Given the description of an element on the screen output the (x, y) to click on. 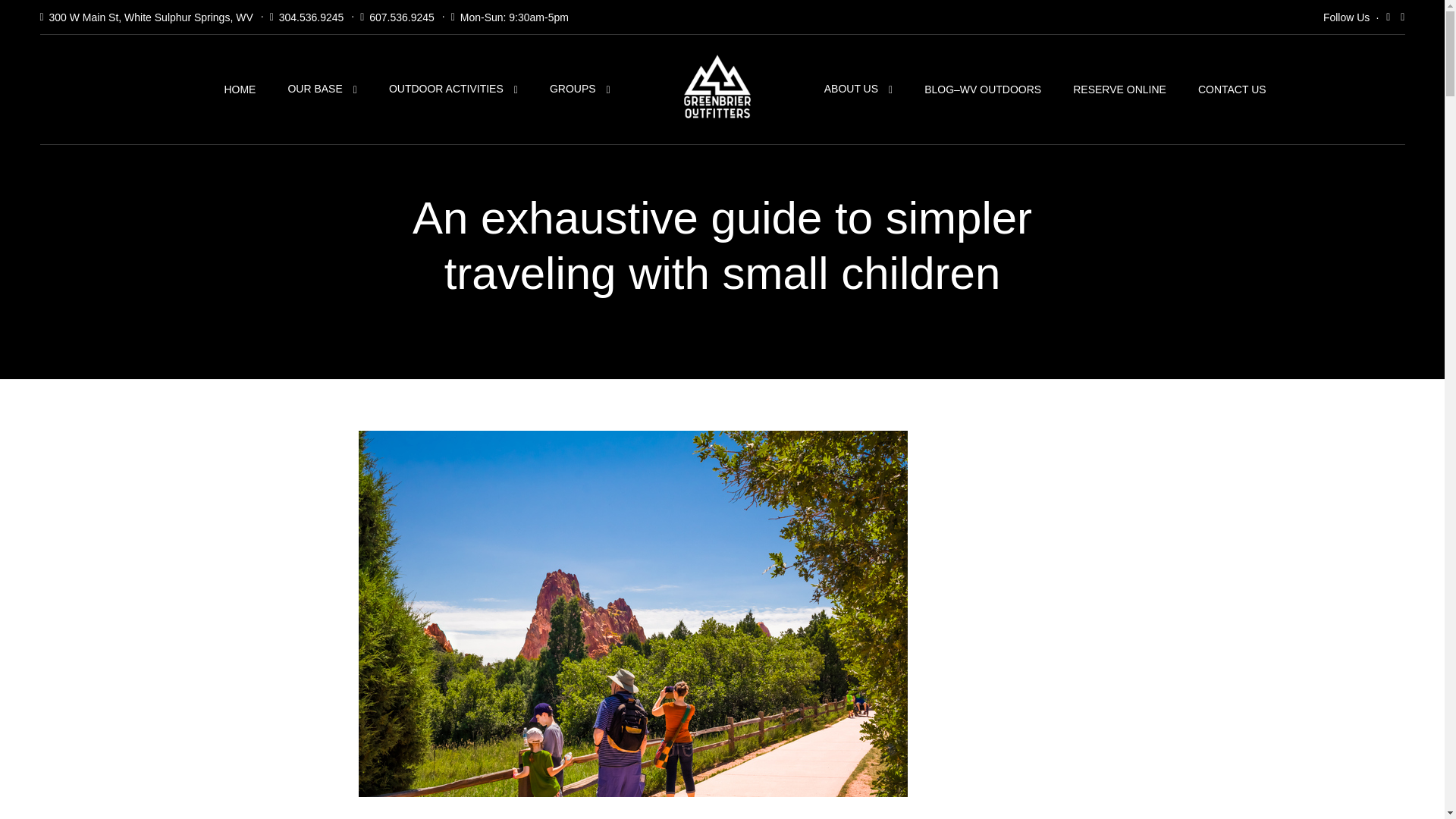
RESERVE ONLINE (1119, 88)
Families (376, 818)
Uncategorized (430, 818)
607.536.9245 (401, 17)
ABOUT US (858, 89)
CONTACT US (1232, 88)
304.536.9245 (311, 17)
May 14, 2020 (503, 818)
OUTDOOR ACTIVITIES (453, 89)
HOME (239, 88)
Darlene Zobrist (593, 818)
OUR BASE (321, 89)
GROUPS (580, 89)
